Given the description of an element on the screen output the (x, y) to click on. 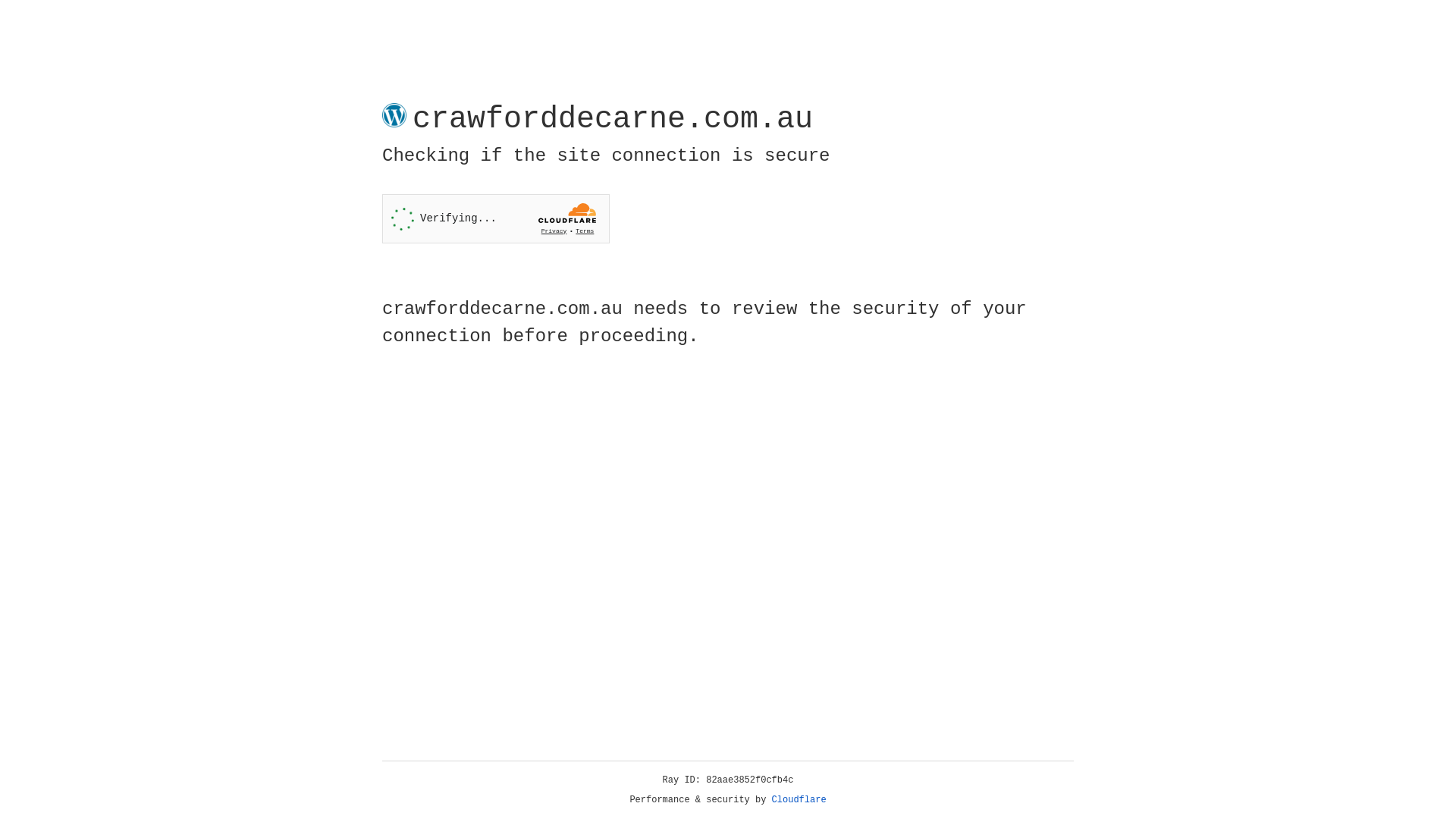
Cloudflare Element type: text (798, 799)
Widget containing a Cloudflare security challenge Element type: hover (495, 218)
